Given the description of an element on the screen output the (x, y) to click on. 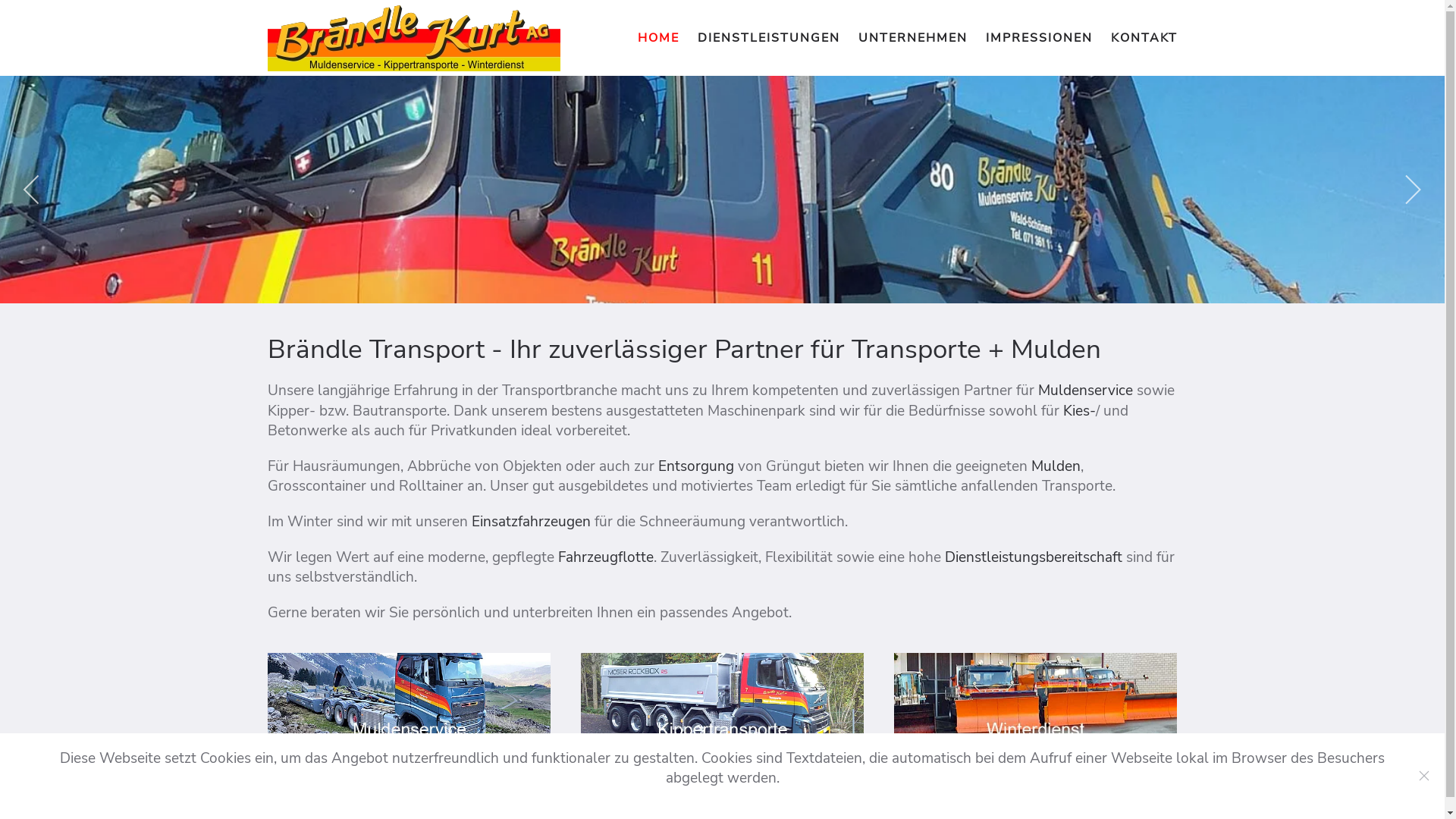
UNTERNEHMEN Element type: text (912, 37)
HOME Element type: text (657, 37)
IMPRESSIONEN Element type: text (1038, 37)
Kies- Element type: text (1079, 410)
Fahrzeugflotte Element type: text (605, 557)
Entsorgung Element type: text (697, 466)
Mulden Element type: text (1055, 466)
Muldenservice Element type: text (1086, 390)
KONTAKT Element type: text (1143, 37)
Dienstleistungsbereitschaft Element type: text (1035, 557)
Einsatzfahrzeugen Element type: text (532, 521)
DIENSTLEISTUNGEN Element type: text (768, 37)
info@braendle-transport.ch Element type: text (1049, 783)
